Given the description of an element on the screen output the (x, y) to click on. 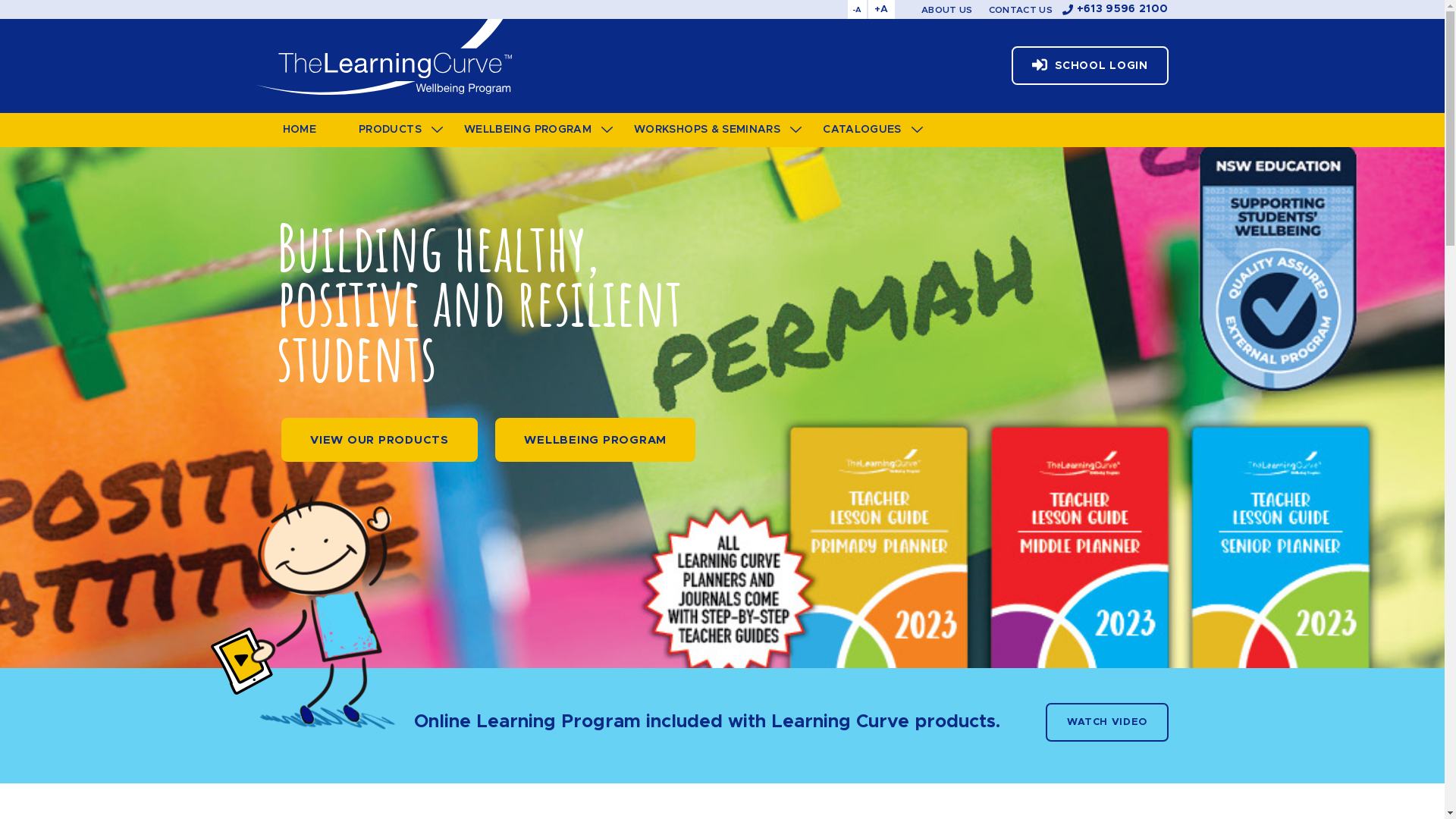
+A Element type: text (881, 9)
WELLBEING PROGRAM Element type: text (527, 129)
ABOUT US Element type: text (946, 9)
-A Element type: text (856, 9)
WORKSHOPS & SEMINARS Element type: text (706, 129)
The Learning Curve Element type: text (382, 56)
HOME Element type: text (298, 129)
WELLBEING PROGRAM Element type: text (595, 439)
+613 9596 2100 Element type: text (1115, 8)
SCHOOL LOGIN Element type: text (1089, 65)
WATCH VIDEO Element type: text (1106, 721)
CONTACT US Element type: text (1020, 9)
VIEW OUR PRODUCTS Element type: text (379, 439)
CATALOGUES Element type: text (861, 129)
PRODUCTS Element type: text (389, 129)
